Given the description of an element on the screen output the (x, y) to click on. 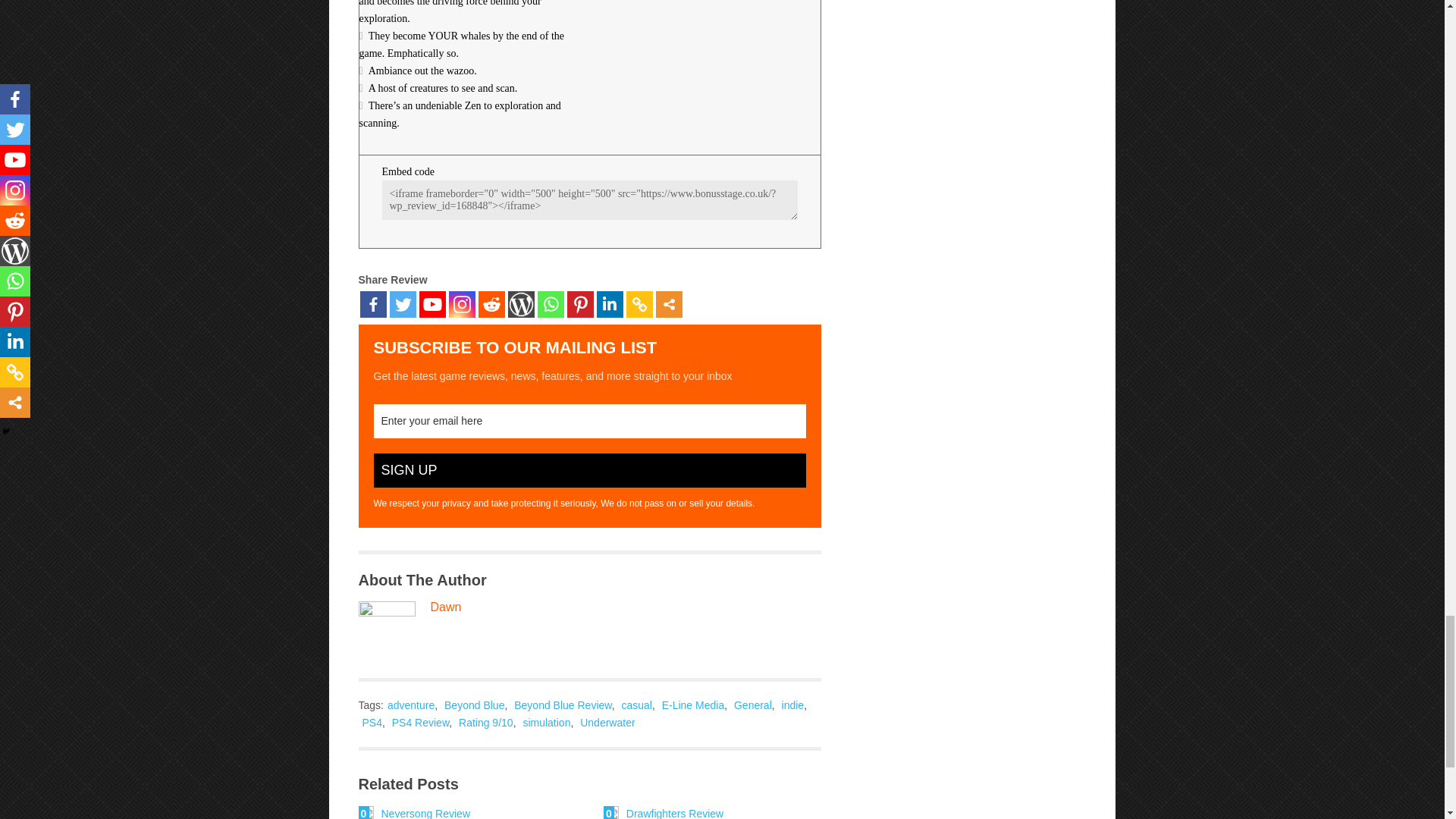
Sign Up (588, 470)
